Given the description of an element on the screen output the (x, y) to click on. 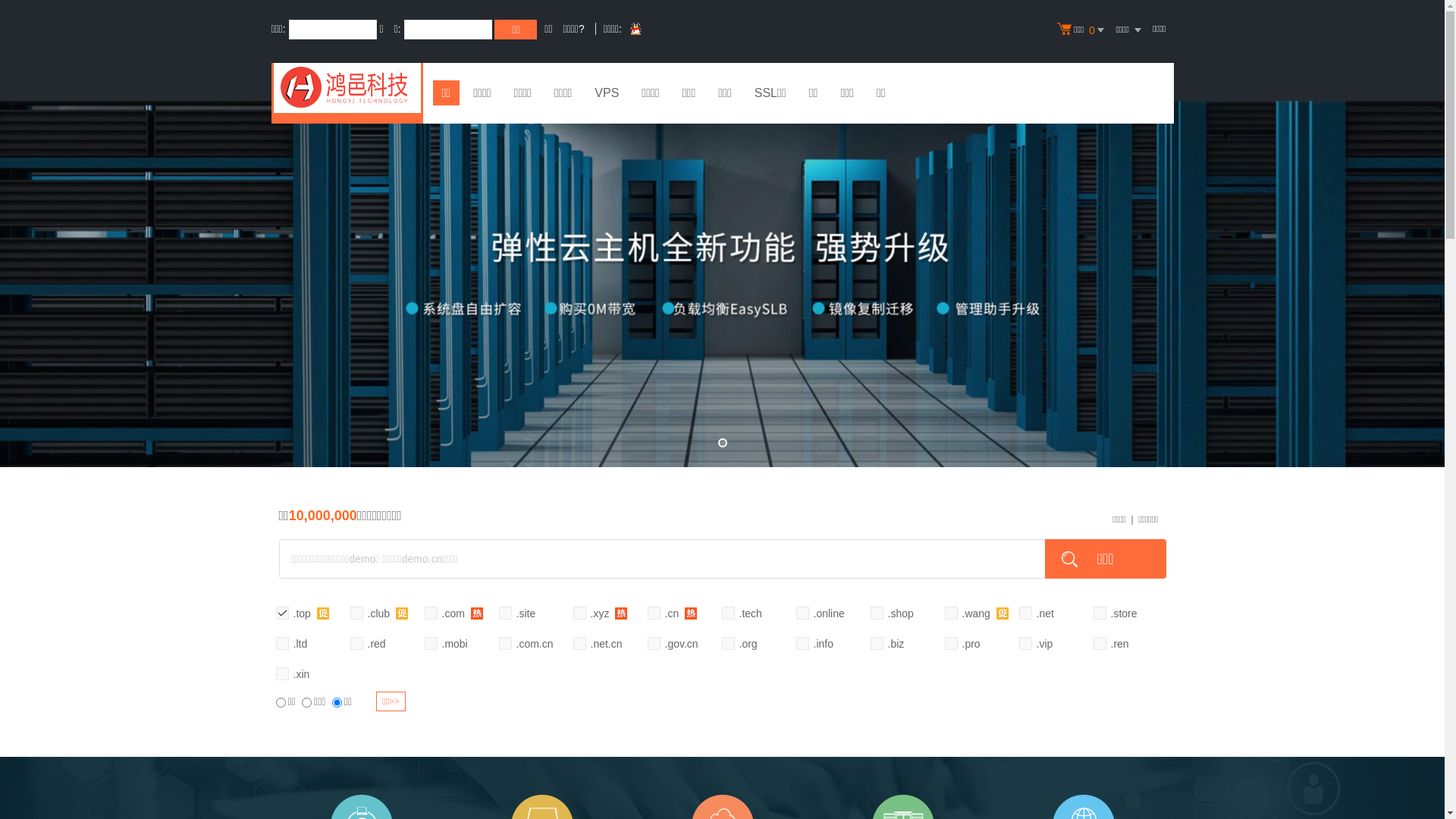
VPS Element type: text (606, 94)
